Given the description of an element on the screen output the (x, y) to click on. 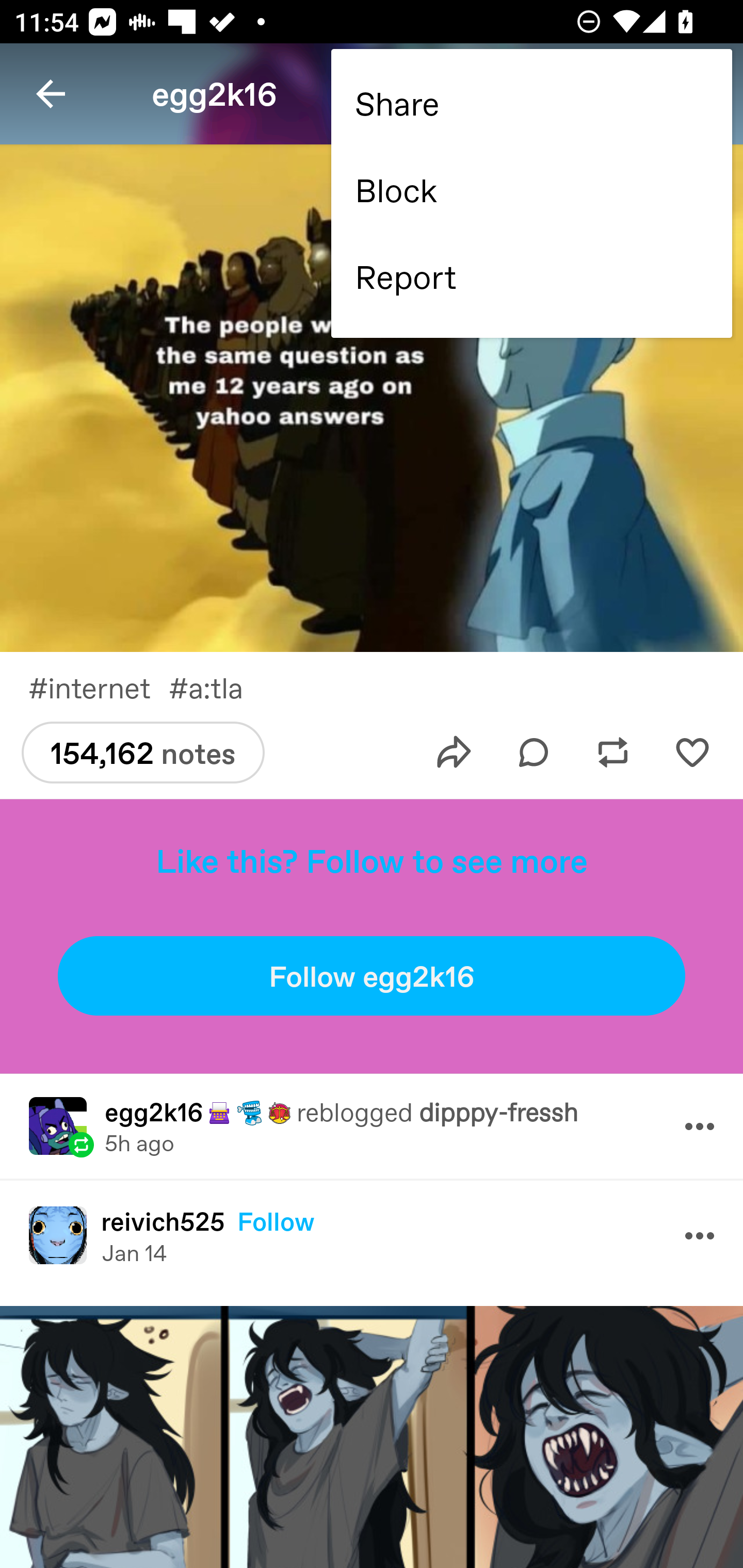
Share (529, 102)
Block (529, 189)
Report (529, 276)
